Given the description of an element on the screen output the (x, y) to click on. 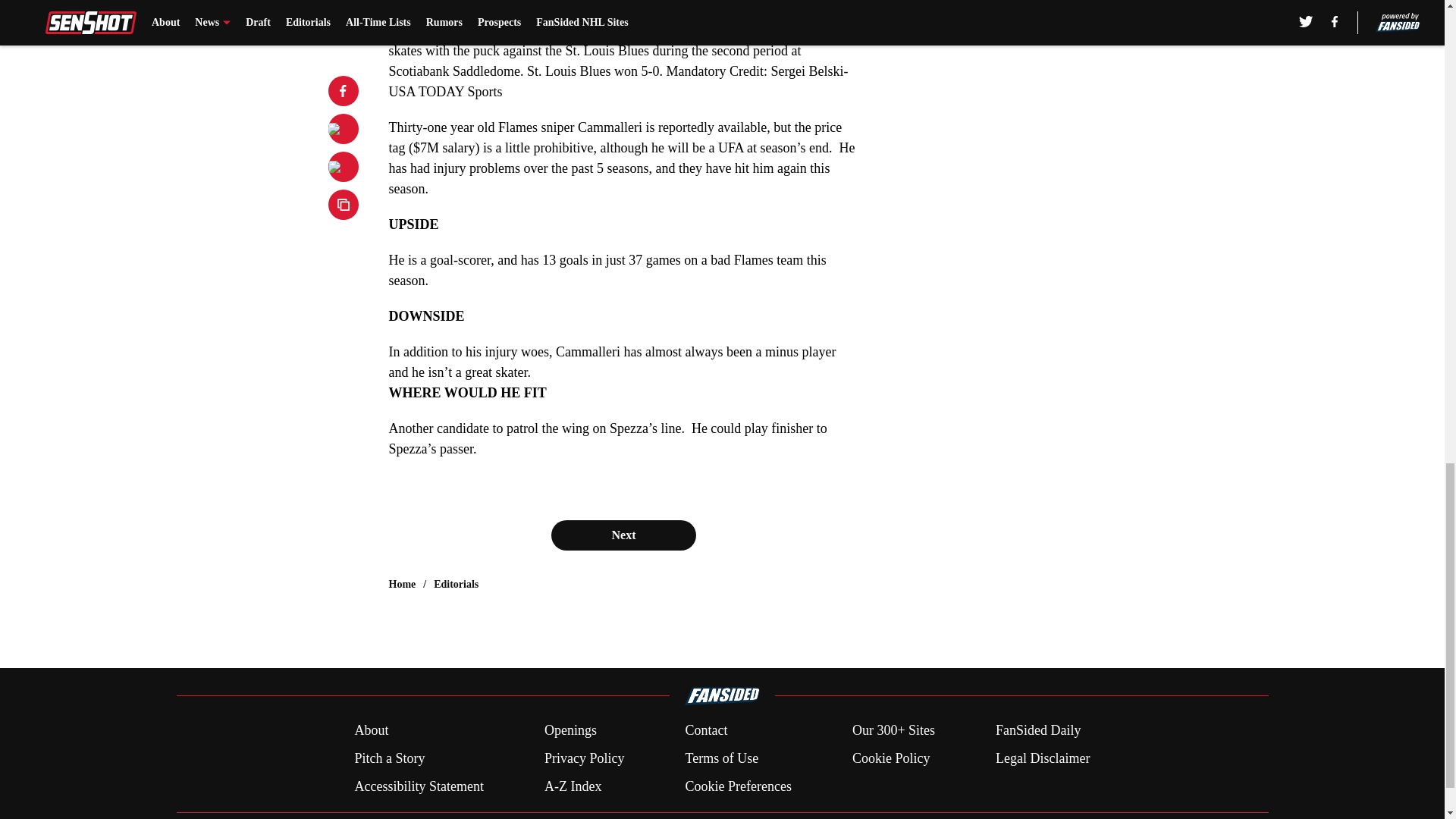
About (370, 730)
Cookie Policy (890, 758)
Accessibility Statement (418, 786)
Contact (705, 730)
Editorials (456, 584)
Pitch a Story (389, 758)
Home (401, 584)
Openings (570, 730)
Privacy Policy (584, 758)
FanSided Daily (1038, 730)
